Given the description of an element on the screen output the (x, y) to click on. 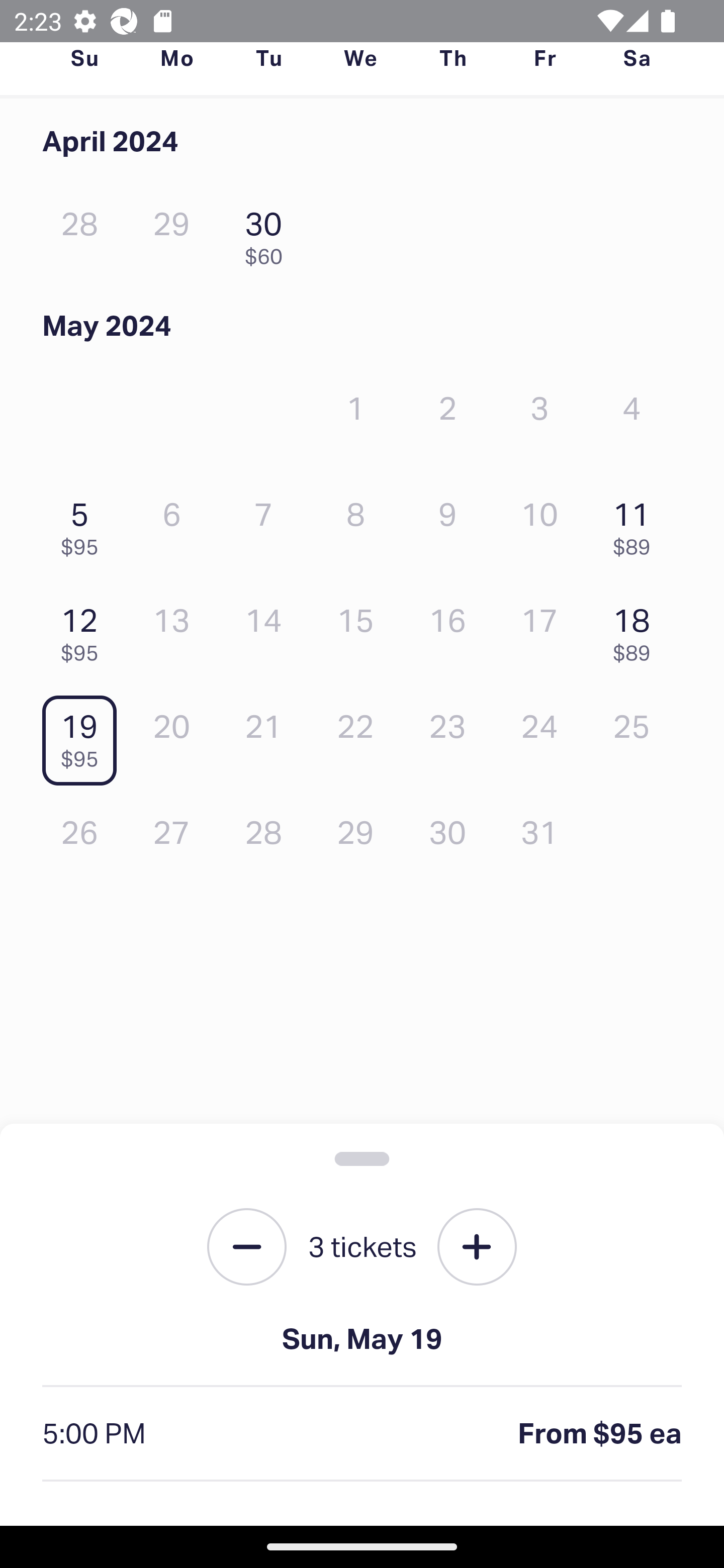
30 $60 (268, 232)
5 $95 (84, 524)
11 $89 (636, 524)
12 $95 (84, 629)
18 $89 (636, 629)
19 $95 (84, 735)
5:00 PM From $95 ea (361, 1434)
